Given the description of an element on the screen output the (x, y) to click on. 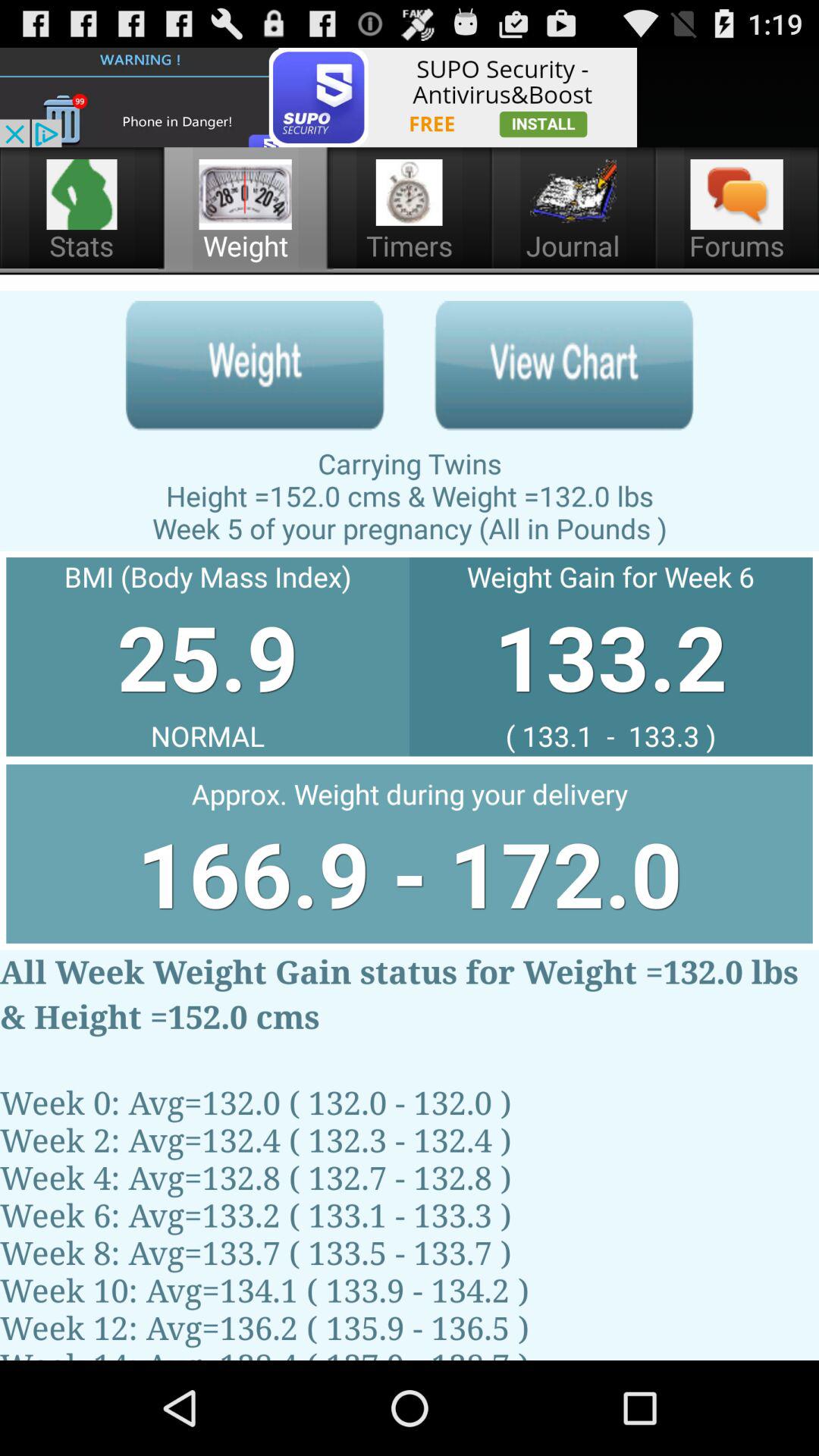
view chart (563, 365)
